Given the description of an element on the screen output the (x, y) to click on. 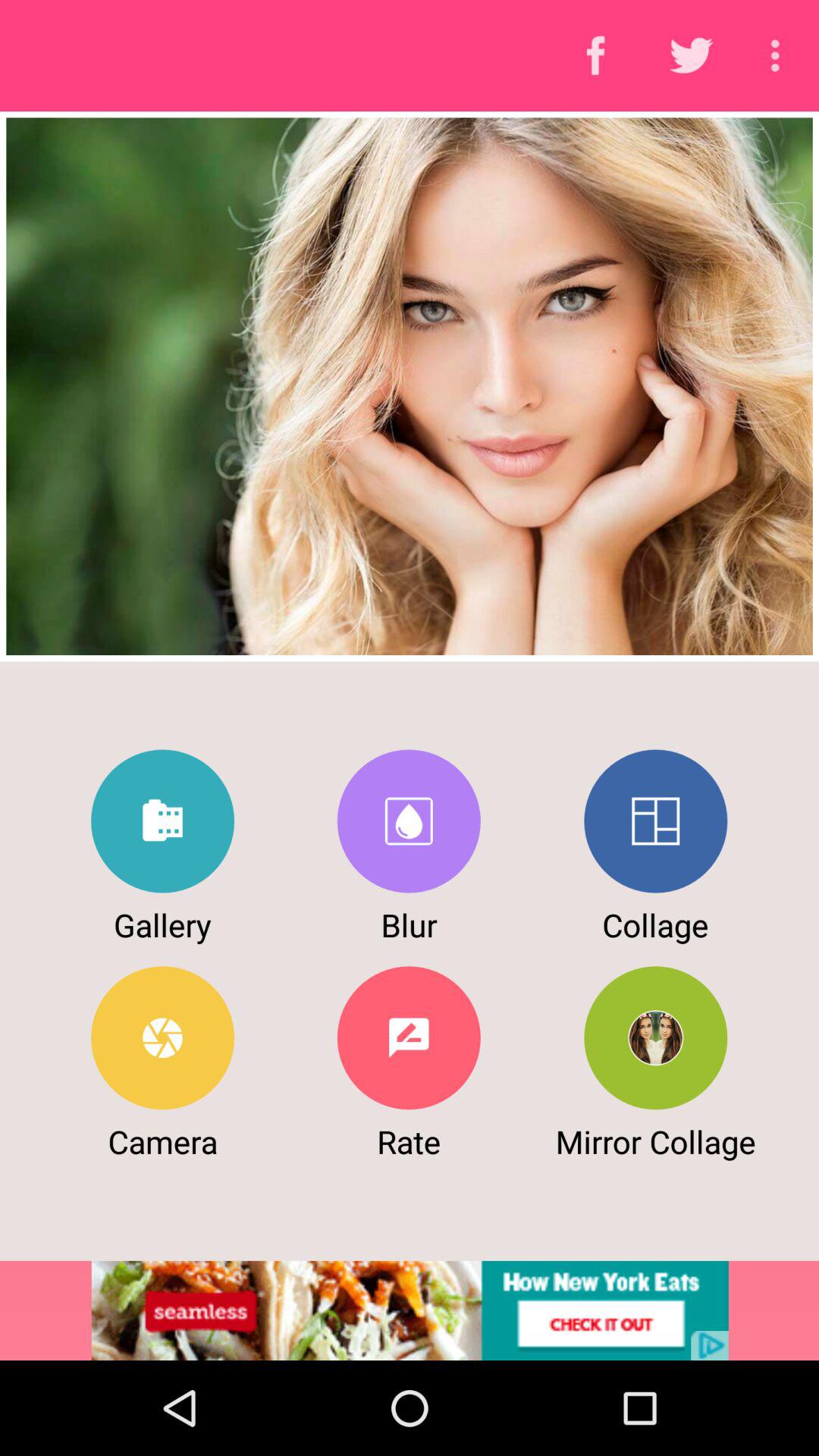
select rate (408, 1037)
